Given the description of an element on the screen output the (x, y) to click on. 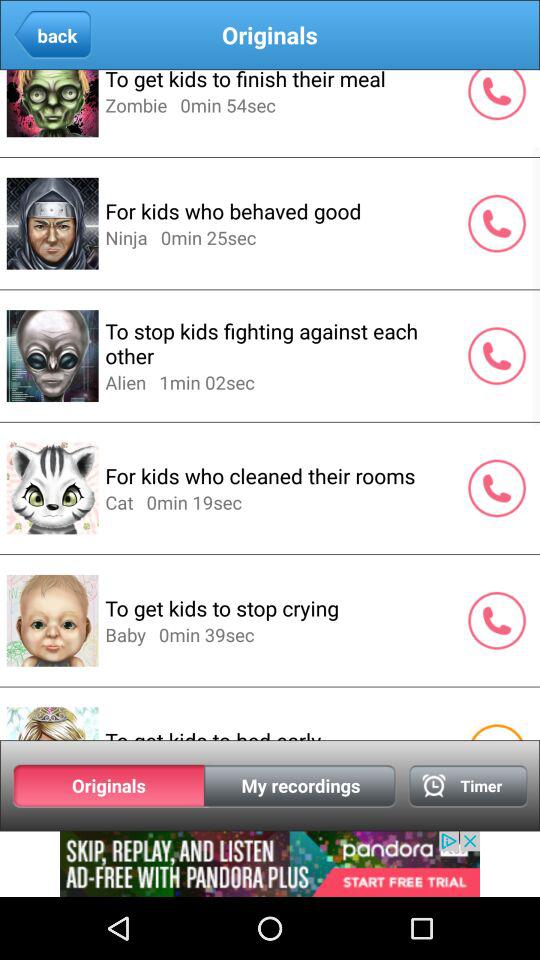
click on the image beside for kids who cleaned their rooms (52, 487)
select the third image which is before to stop kids fighting against each other (52, 356)
click on back button (52, 35)
select the icon which is beside the text to stop kids fighting against each other (496, 355)
select the call icon which is to the right side of to get kids to finish their meal option (496, 98)
